Given the description of an element on the screen output the (x, y) to click on. 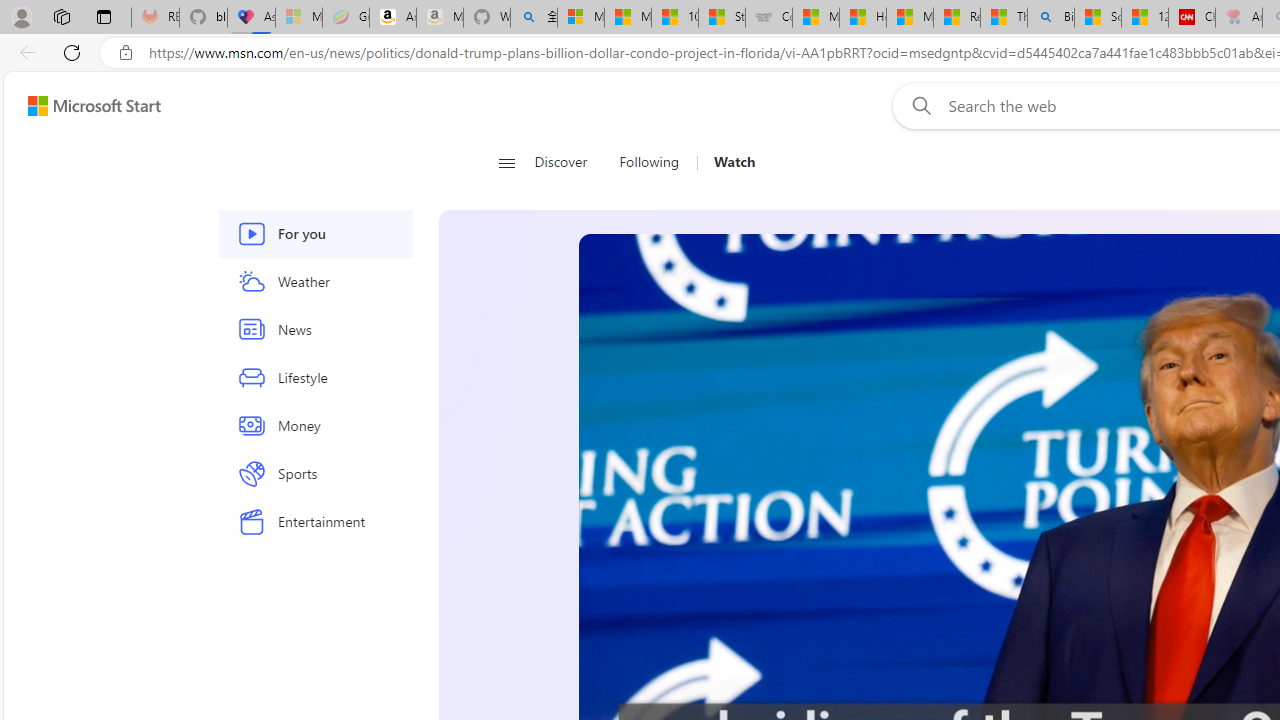
Skip to content (86, 105)
Stocks - MSN (721, 17)
Science - MSN (1098, 17)
Class: button-glyph (505, 162)
Skip to footer (82, 105)
Bing (1050, 17)
Open navigation menu (506, 162)
12 Popular Science Lies that Must be Corrected (1145, 17)
